Given the description of an element on the screen output the (x, y) to click on. 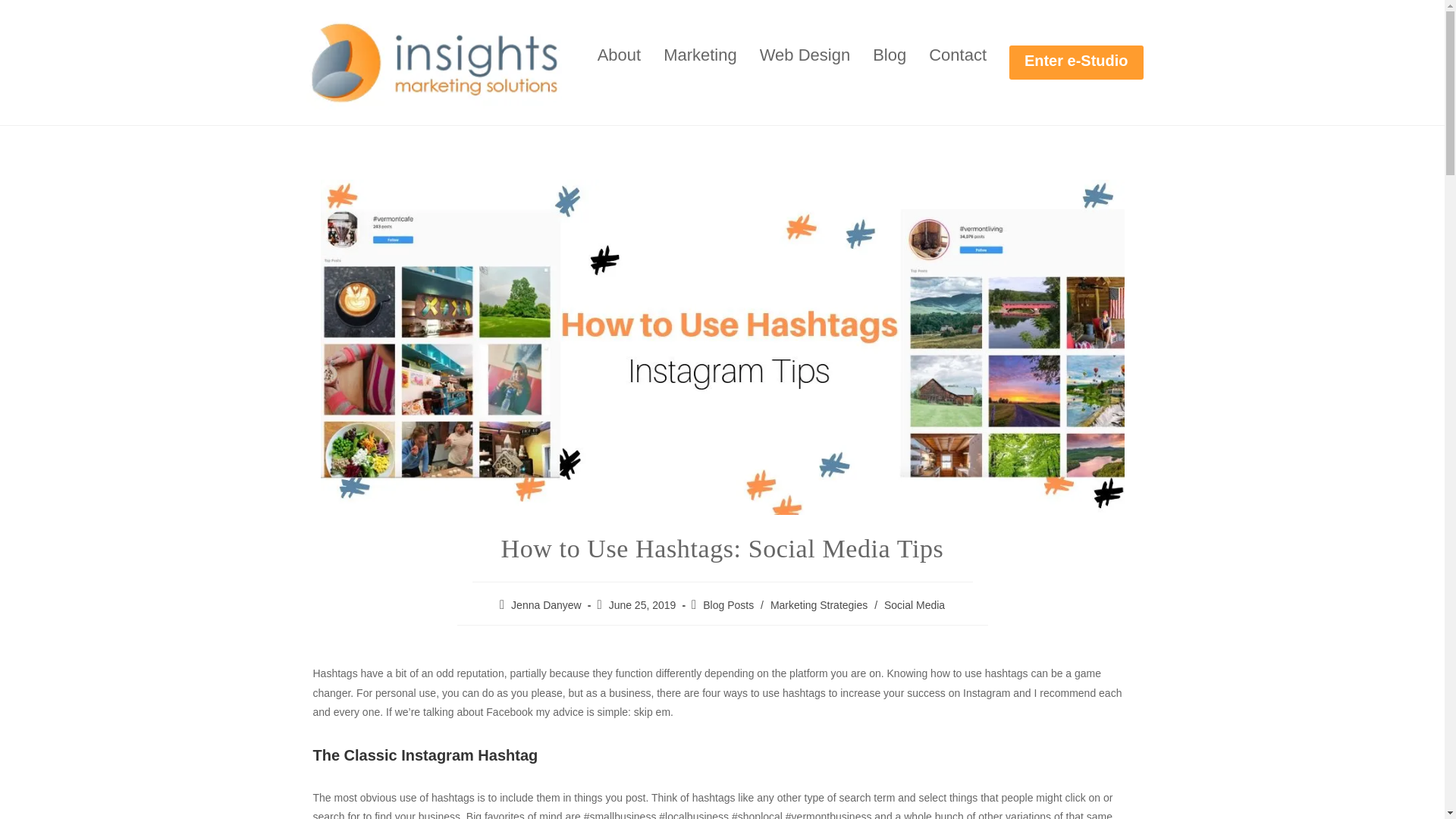
Jenna Danyew (545, 604)
Posts by Jenna Danyew (545, 604)
Blog Posts (728, 604)
Web Design (804, 55)
Enter e-Studio (1075, 62)
Marketing (700, 55)
Contact (957, 55)
Social Media (913, 604)
Marketing Strategies (818, 604)
